Given the description of an element on the screen output the (x, y) to click on. 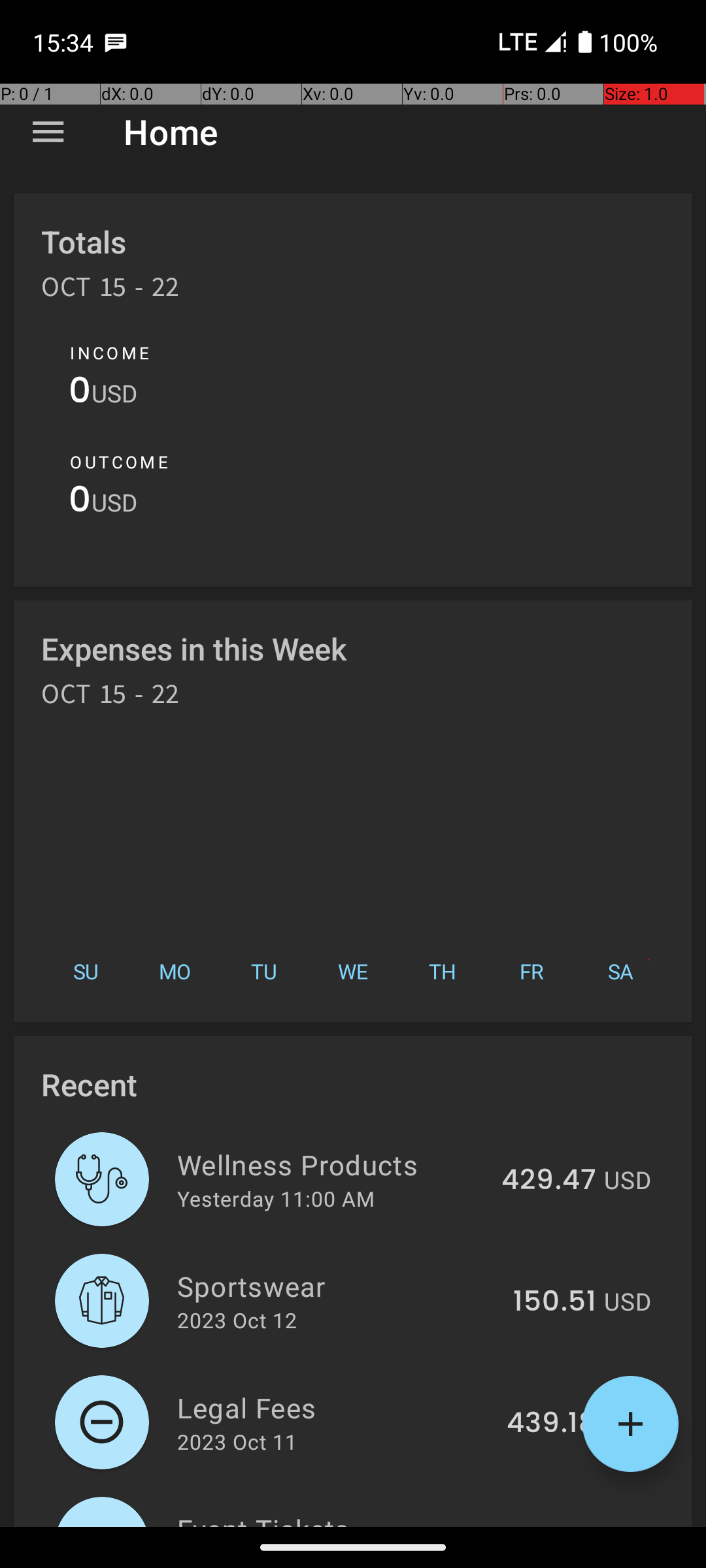
Wellness Products Element type: android.widget.TextView (331, 1164)
Yesterday 11:00 AM Element type: android.widget.TextView (275, 1198)
429.47 Element type: android.widget.TextView (548, 1180)
Sportswear Element type: android.widget.TextView (337, 1285)
150.51 Element type: android.widget.TextView (554, 1301)
Legal Fees Element type: android.widget.TextView (334, 1407)
439.18 Element type: android.widget.TextView (550, 1423)
487.53 Element type: android.widget.TextView (548, 1524)
